Given the description of an element on the screen output the (x, y) to click on. 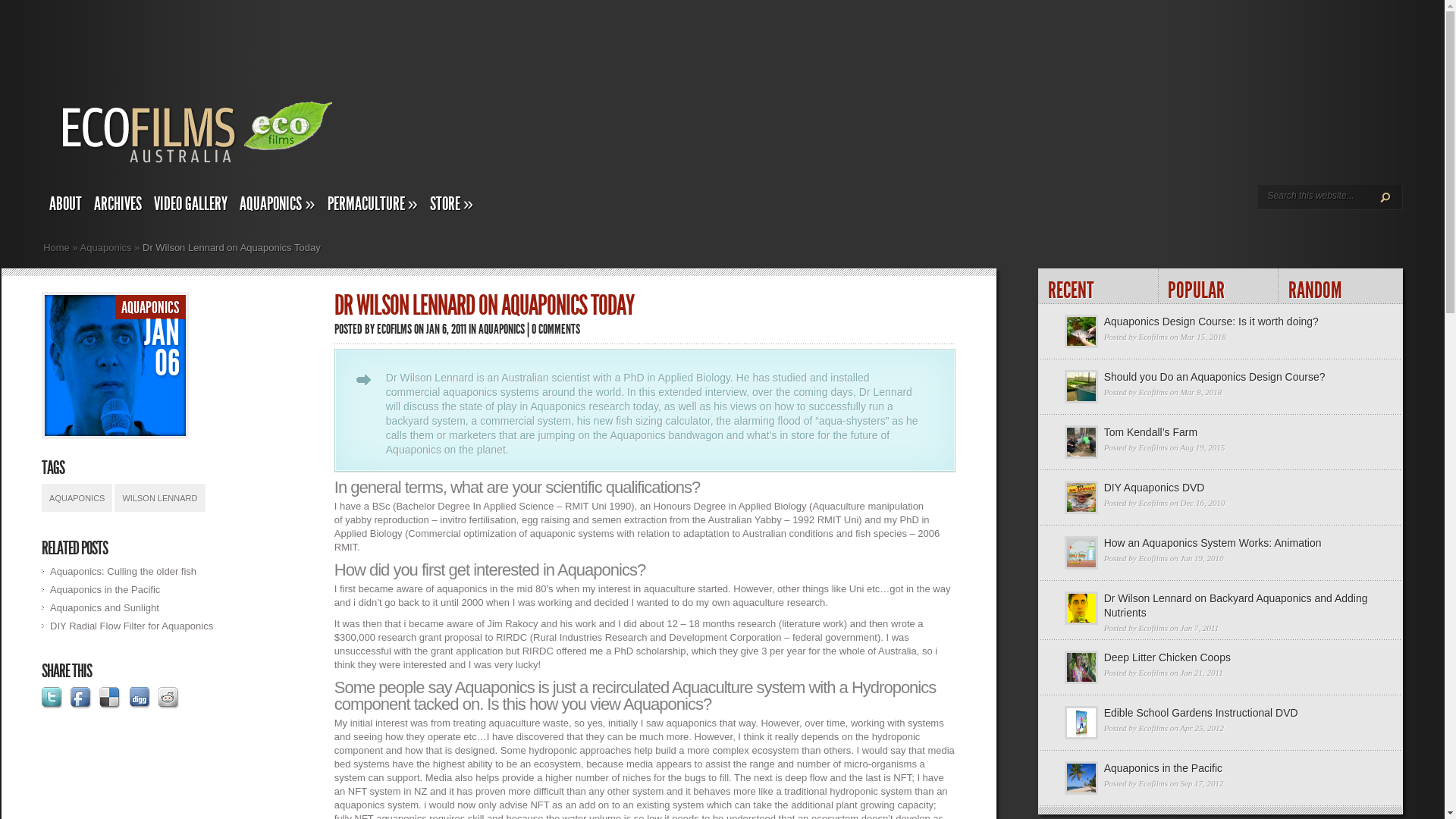
AQUAPONICS Element type: text (150, 307)
RECENT Element type: text (1098, 286)
Aquaponics and Sunlight Element type: text (104, 607)
Aquaponics in the Pacific Element type: text (105, 589)
Ecofilms Element type: text (1152, 727)
POPULAR Element type: text (1218, 286)
Ecofilms Element type: text (1152, 336)
RANDOM Element type: text (1338, 286)
Ecofilms Element type: text (1152, 557)
WILSON LENNARD Element type: text (159, 497)
Ecofilms Element type: text (1152, 782)
ARCHIVES Element type: text (117, 205)
Should you Do an Aquaponics Design Course? Element type: text (1214, 376)
Edible School Gardens Instructional DVD Element type: text (1201, 712)
Ecofilms Element type: text (1152, 391)
VIDEO GALLERY Element type: text (190, 205)
Ecofilms Element type: text (1152, 446)
DIY Radial Flow Filter for Aquaponics Element type: text (131, 625)
Aquaponics Design Course: Is it worth doing? Element type: text (1211, 321)
ABOUT Element type: text (65, 205)
Deep Litter Chicken Coops Element type: text (1167, 657)
Aquaponics: Culling the older fish Element type: text (123, 571)
How an Aquaponics System Works: Animation Element type: text (1212, 542)
Ecofilms Element type: text (1152, 672)
DIY Aquaponics DVD Element type: text (1154, 487)
ECOFILMS Element type: text (393, 328)
Home Element type: text (56, 247)
Ecofilms Element type: text (1152, 627)
Aquaponics in the Pacific Element type: text (1163, 768)
AQUAPONICS Element type: text (501, 328)
Ecofilms Element type: text (1152, 502)
0 COMMENTS Element type: text (555, 328)
AQUAPONICS Element type: text (76, 497)
Aquaponics Element type: text (105, 247)
